Given the description of an element on the screen output the (x, y) to click on. 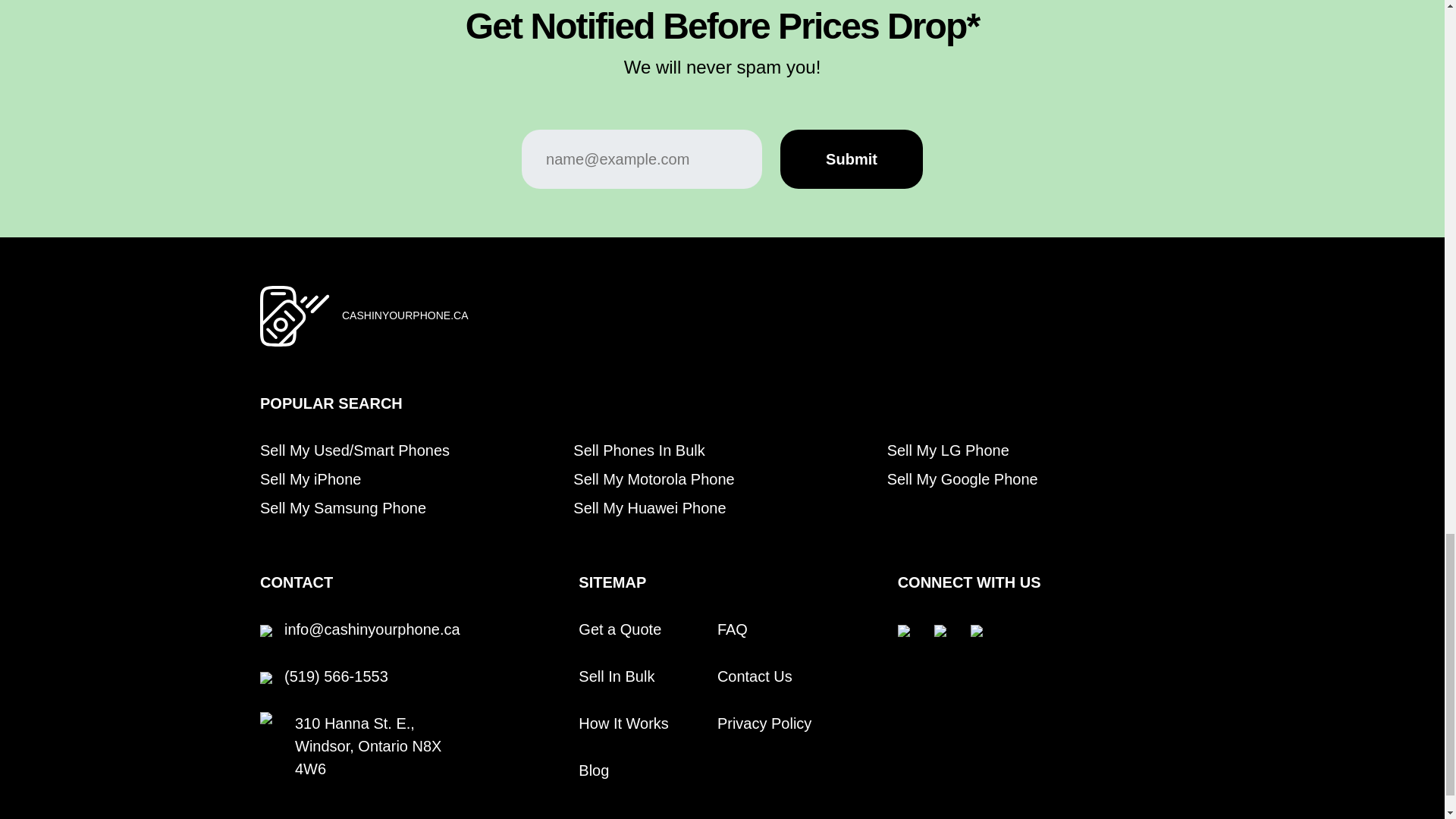
Sell My LG Phone (947, 450)
Get a Quote (619, 629)
Submit (851, 159)
Sell My iPhone (310, 478)
Sell Phones In Bulk (638, 450)
Sell My Google Phone (962, 478)
Contact Us (754, 676)
Privacy Policy (763, 723)
Sell In Bulk (615, 676)
CASHINYOURPHONE.CA (398, 315)
